Given the description of an element on the screen output the (x, y) to click on. 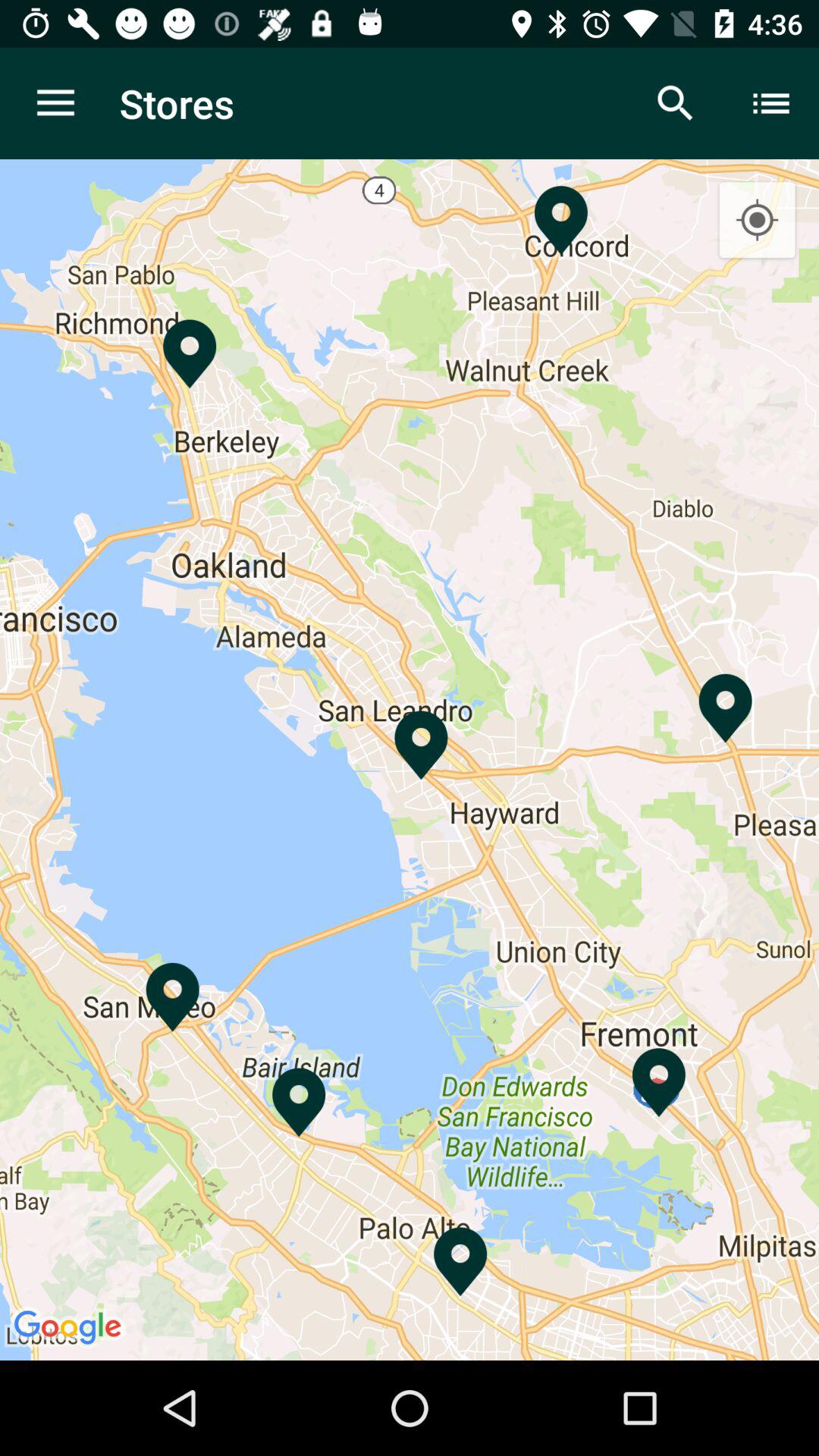
turn off the app to the right of the stores item (675, 103)
